Given the description of an element on the screen output the (x, y) to click on. 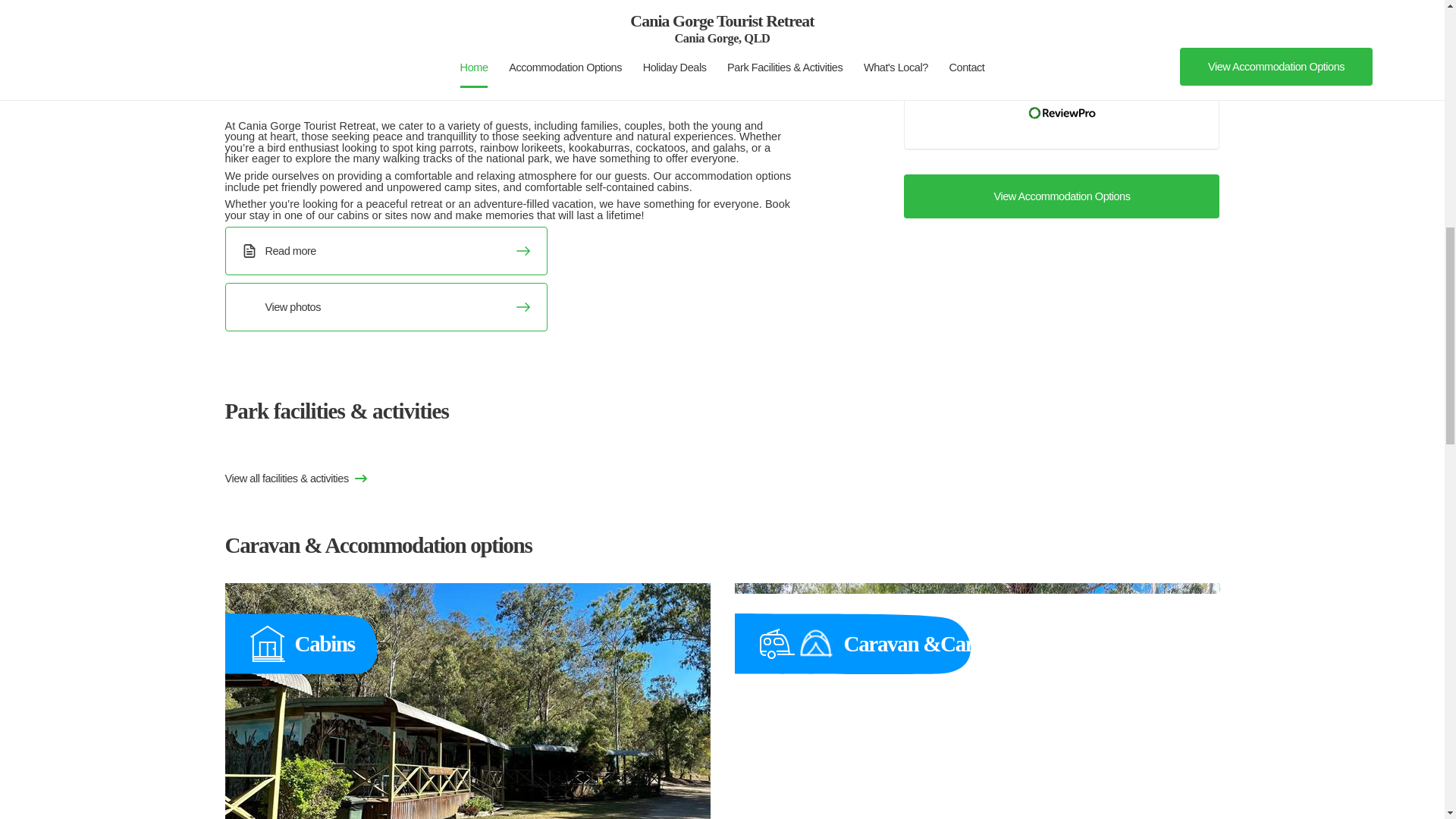
Cabins (467, 701)
Read more (385, 250)
View photos (385, 306)
92 reviews (1113, 76)
View Accommodation Options (1062, 196)
